Given the description of an element on the screen output the (x, y) to click on. 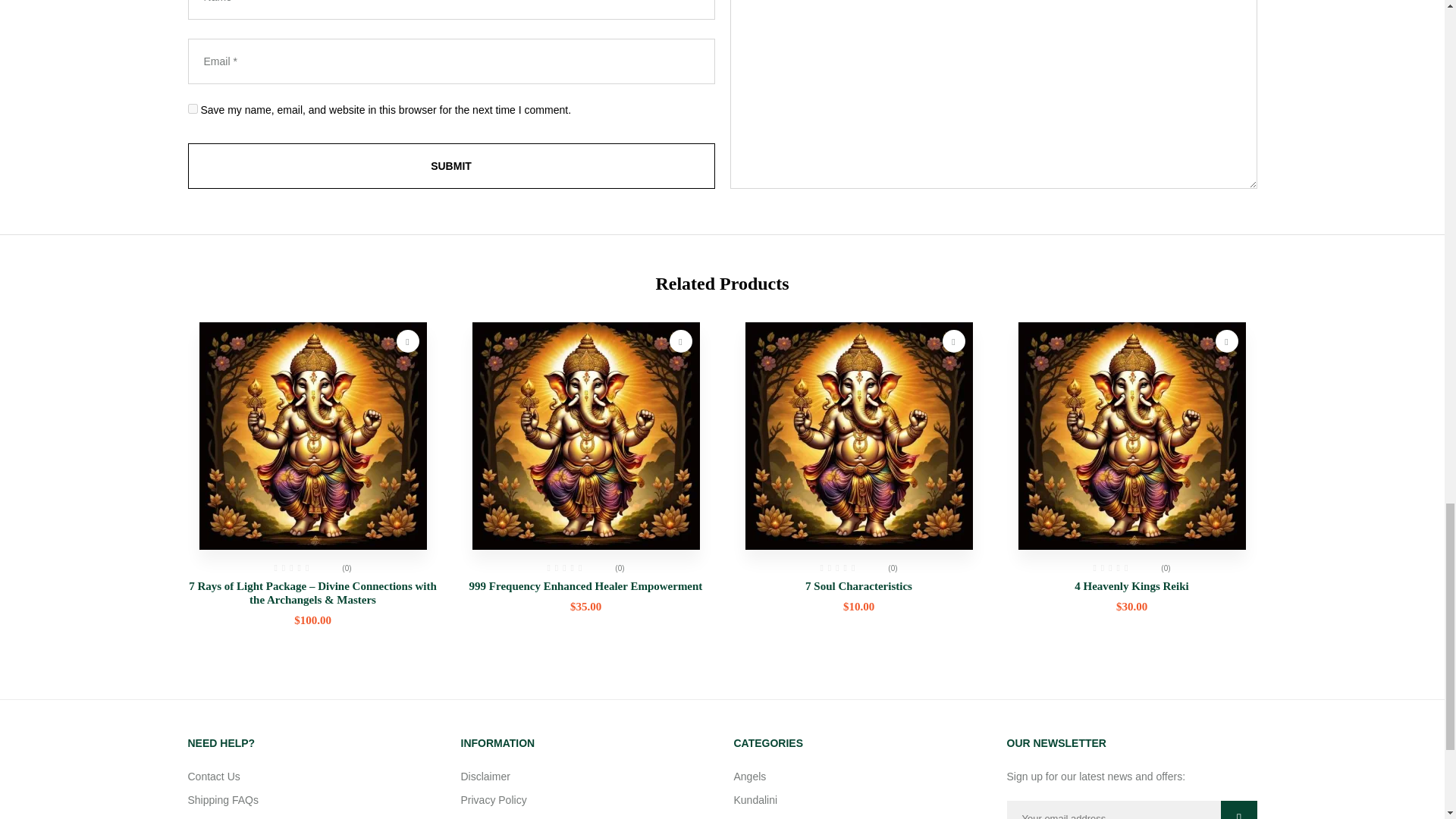
yes (192, 108)
SUBSCRIBE (1234, 809)
Submit (450, 166)
